Given the description of an element on the screen output the (x, y) to click on. 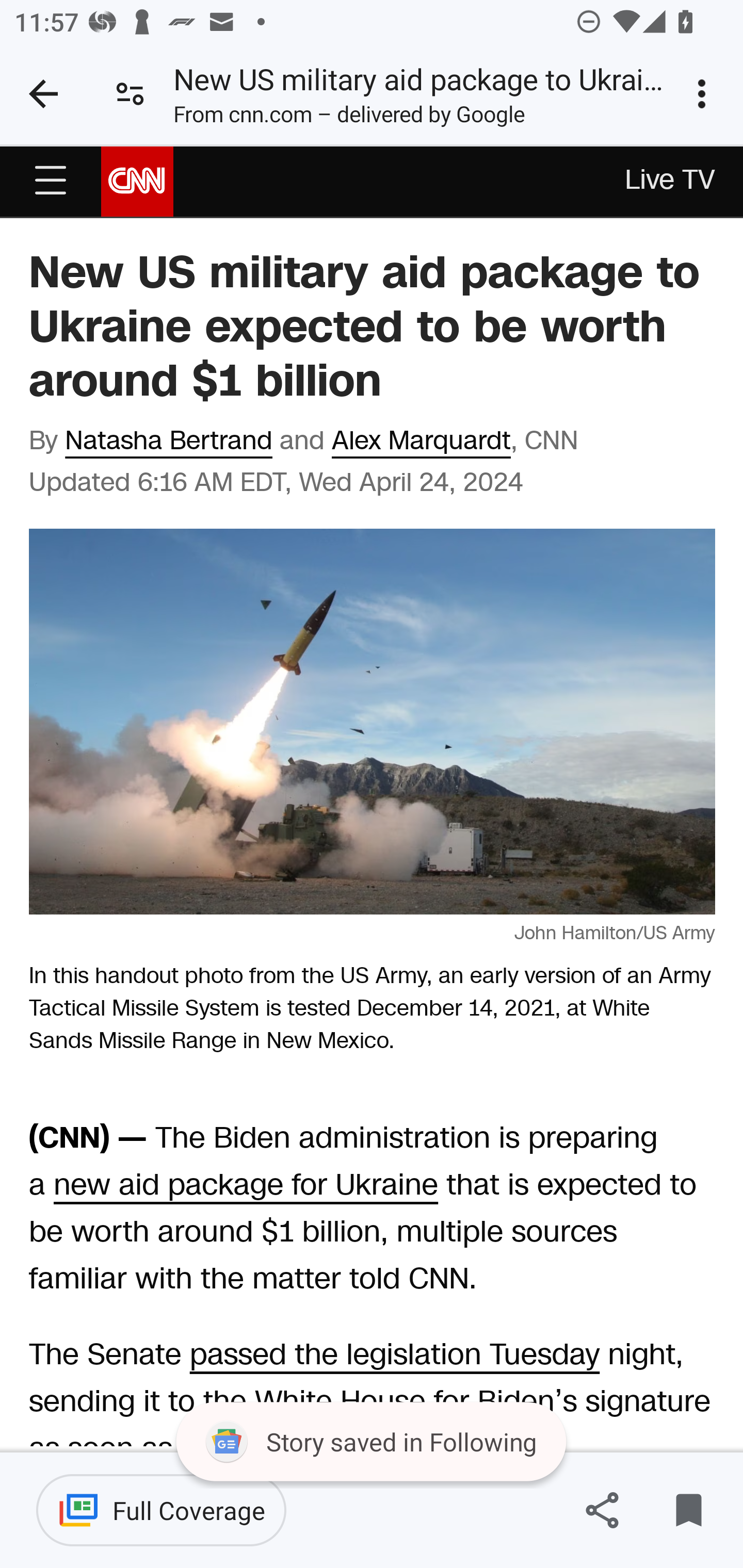
Close tab (43, 93)
Customize and control Google Chrome (705, 93)
Connection is secure (129, 93)
From cnn.com – delivered by Google (349, 117)
CNN logo (137, 180)
us-ukraine-military-aid-package?amp_js_v=0 (50, 180)
Live TV (670, 181)
Natasha Bertrand (169, 441)
Alex Marquardt (420, 441)
new aid package for Ukraine (245, 1185)
passed the legislation Tuesday (394, 1355)
Full Coverage (161, 1509)
Share (601, 1510)
Remove from saved stories (688, 1510)
